Given the description of an element on the screen output the (x, y) to click on. 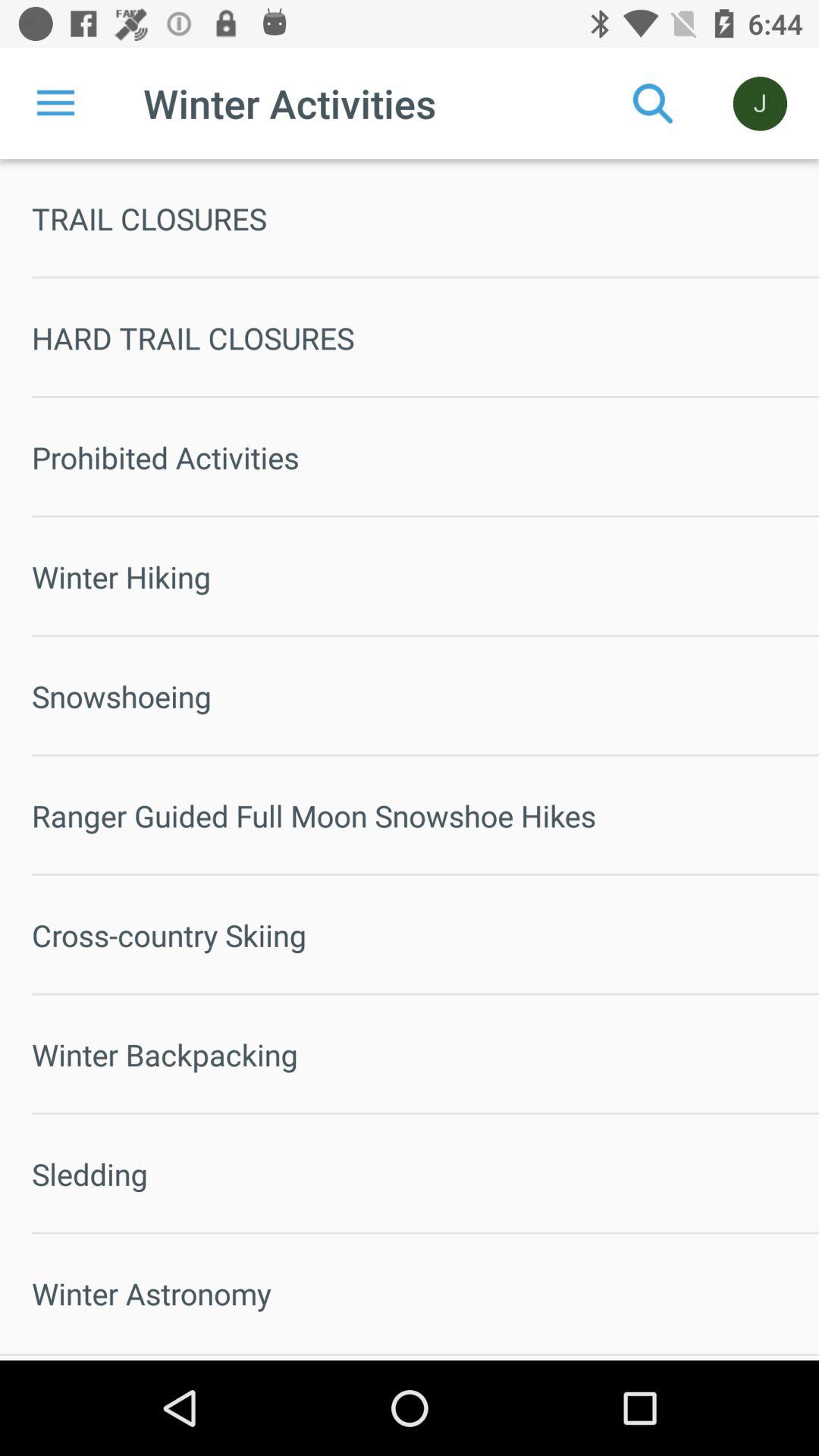
press icon next to winter activities item (653, 103)
